Given the description of an element on the screen output the (x, y) to click on. 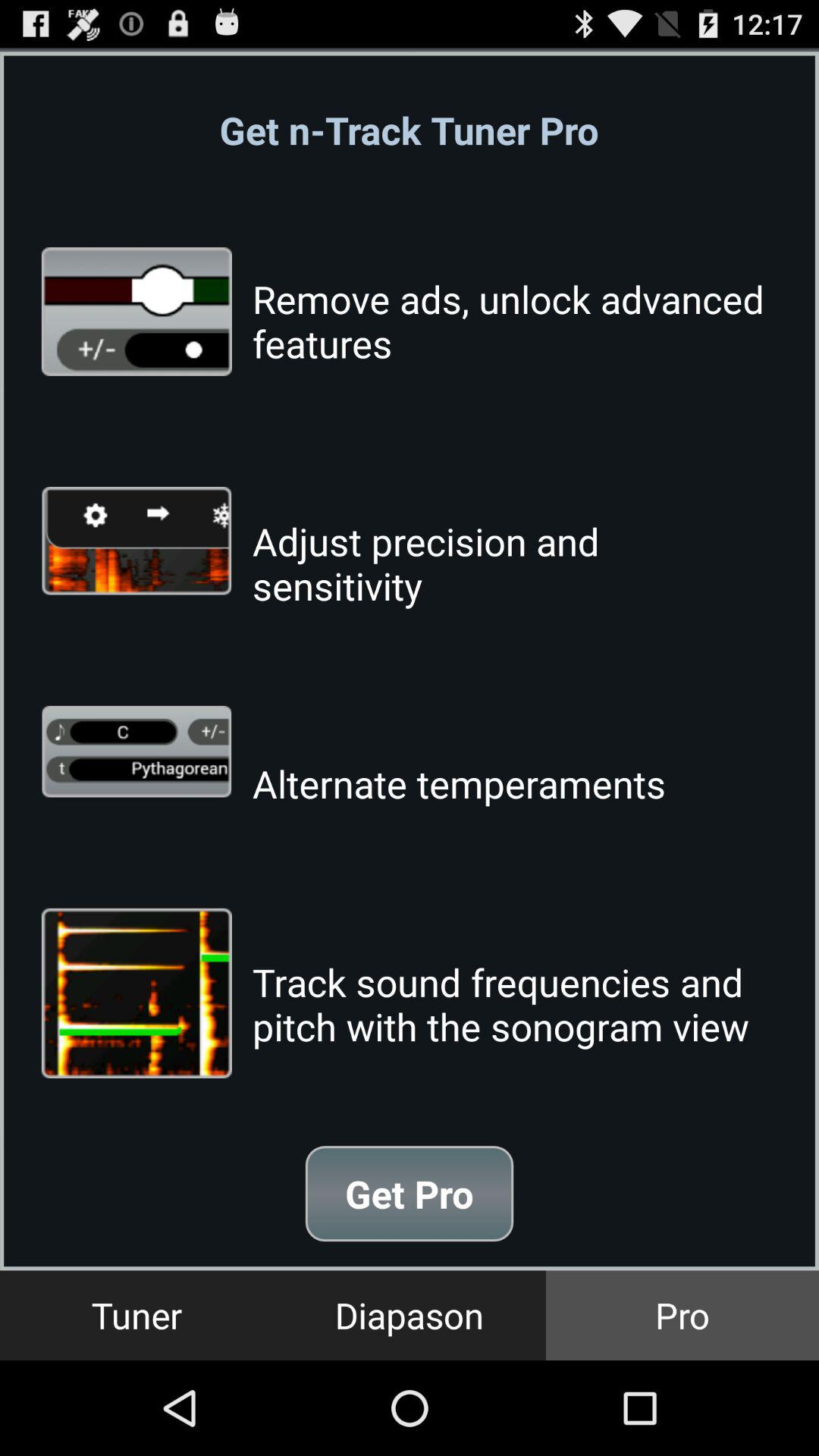
open button next to pro item (409, 1315)
